Given the description of an element on the screen output the (x, y) to click on. 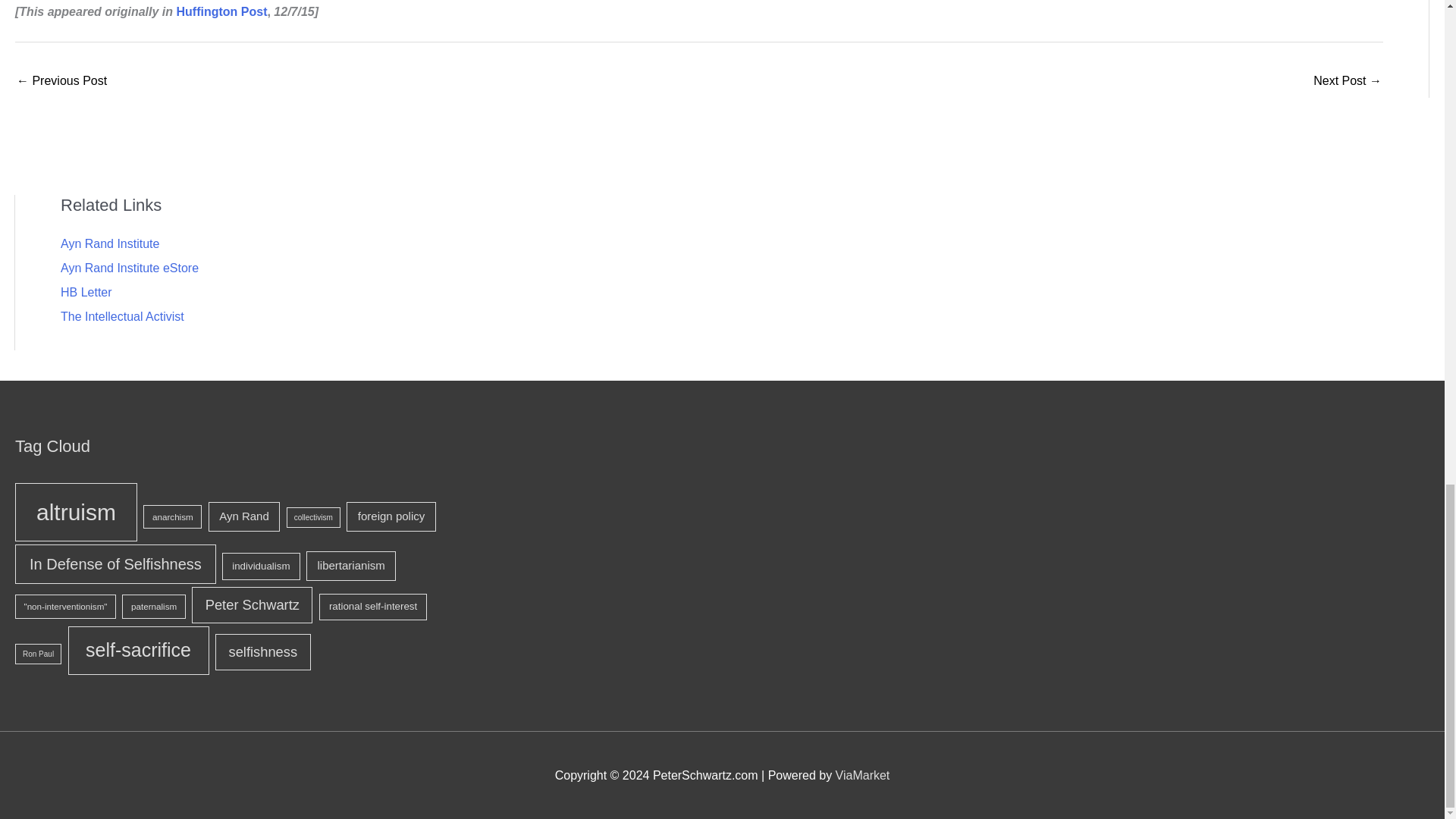
5 topics (65, 606)
Peter Schwartz (252, 605)
individualism (260, 565)
collectivism (313, 516)
Ayn Rand (244, 517)
The Shackles of Paternalism (1347, 81)
10 topics (114, 563)
Ayn Rand Institute (109, 243)
7 topics (350, 566)
Ayn Rand Institute eStore (129, 267)
